Given the description of an element on the screen output the (x, y) to click on. 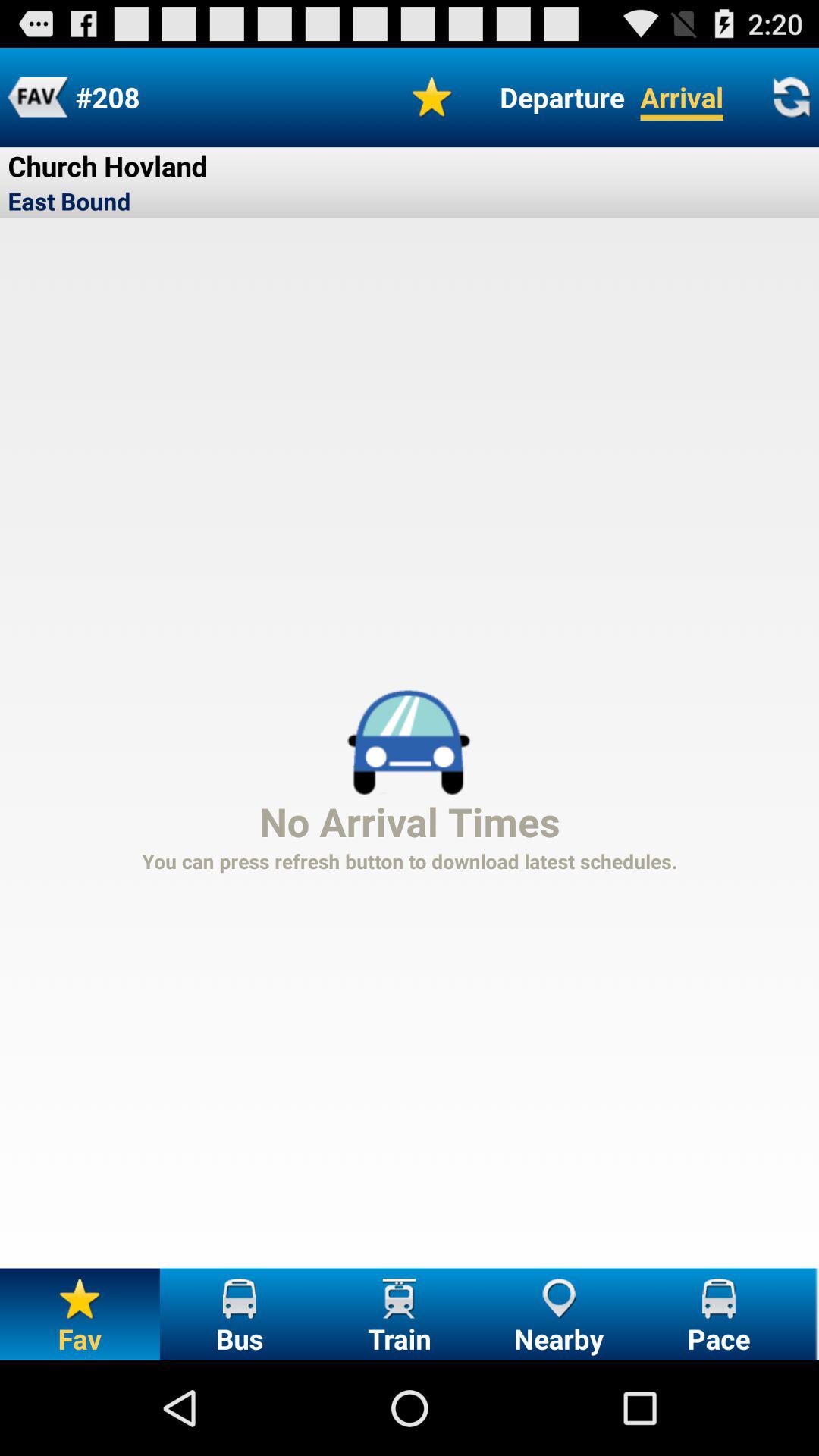
turn on icon next to #208 (432, 97)
